Given the description of an element on the screen output the (x, y) to click on. 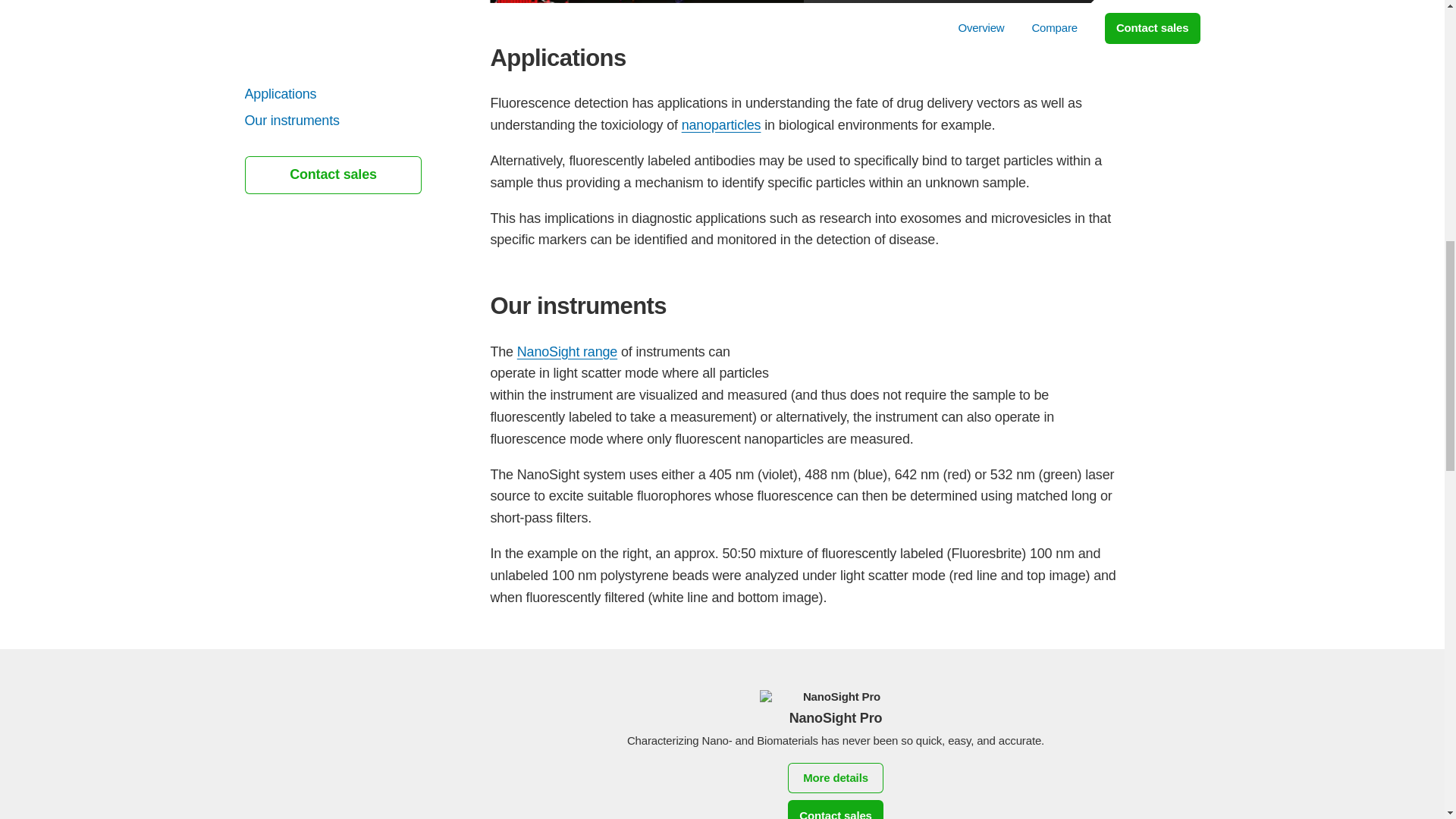
More details (835, 777)
nanoparticles (721, 124)
Contact sales (835, 809)
NanoSight range (566, 351)
Nanomaterials (721, 124)
NanoSight range (566, 351)
